Given the description of an element on the screen output the (x, y) to click on. 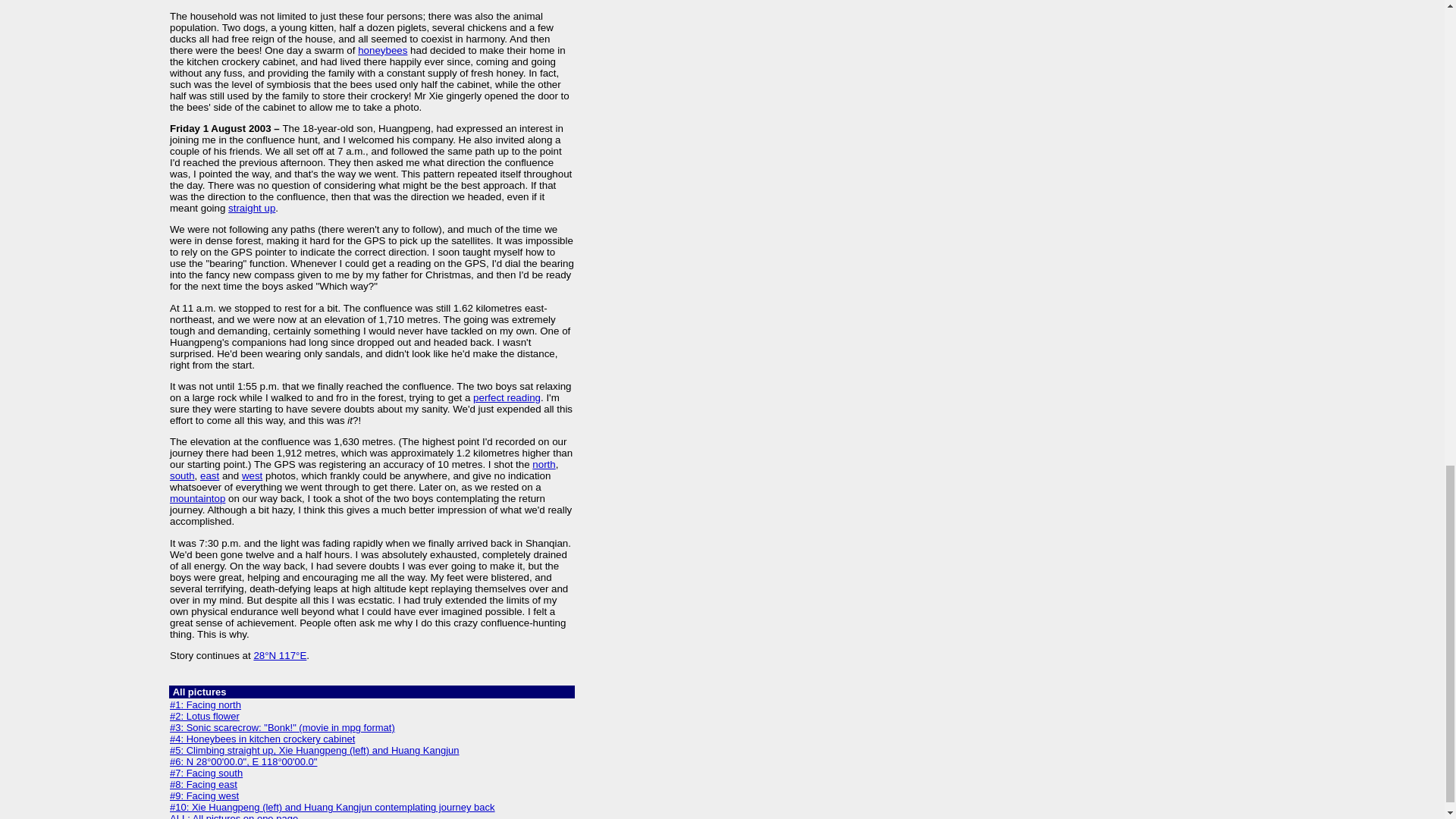
straight up (251, 207)
perfect reading (506, 397)
honeybees (382, 50)
north (543, 464)
